Given the description of an element on the screen output the (x, y) to click on. 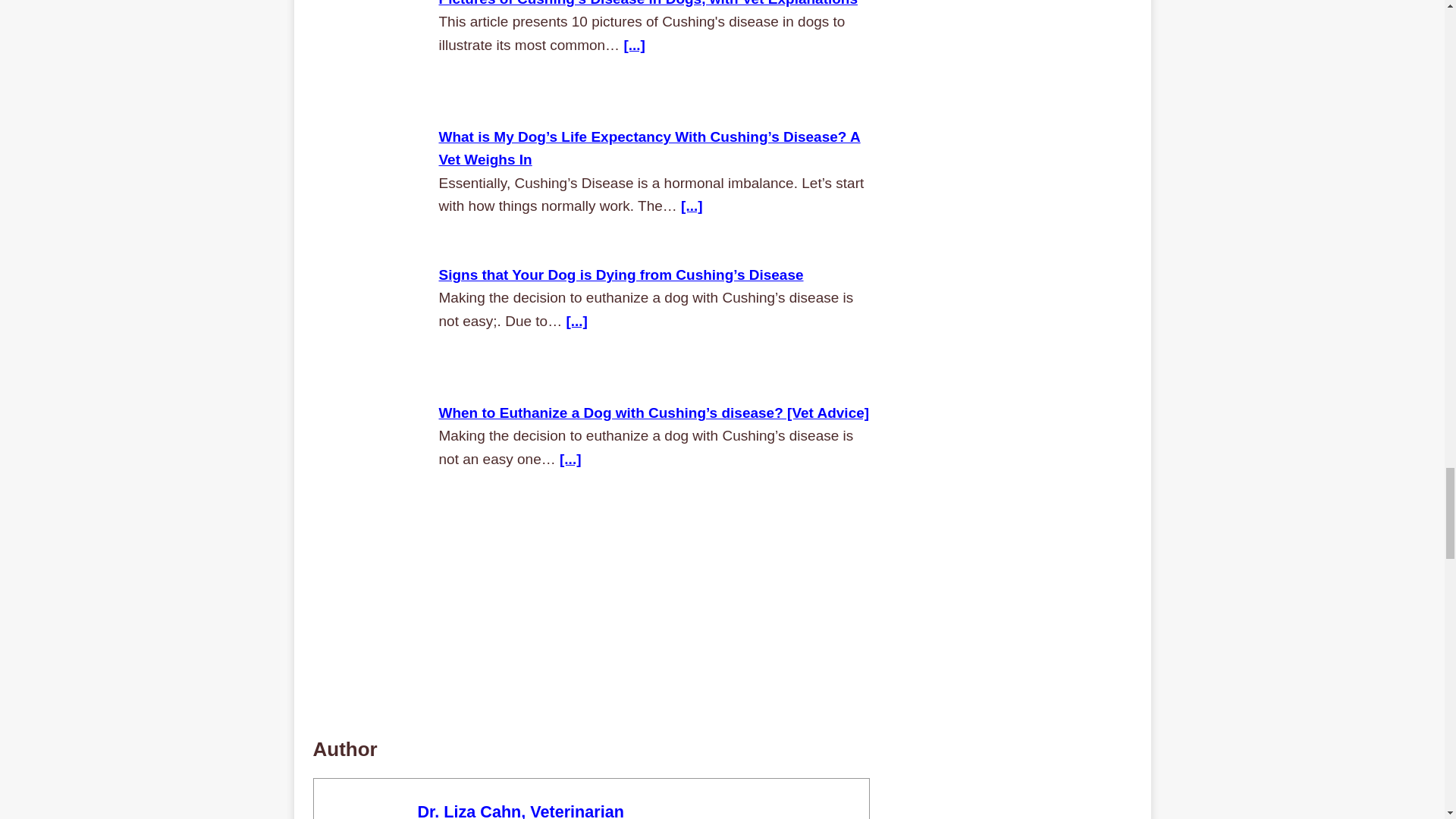
Dr. Liza Cahn, Veterinarian (519, 810)
